Given the description of an element on the screen output the (x, y) to click on. 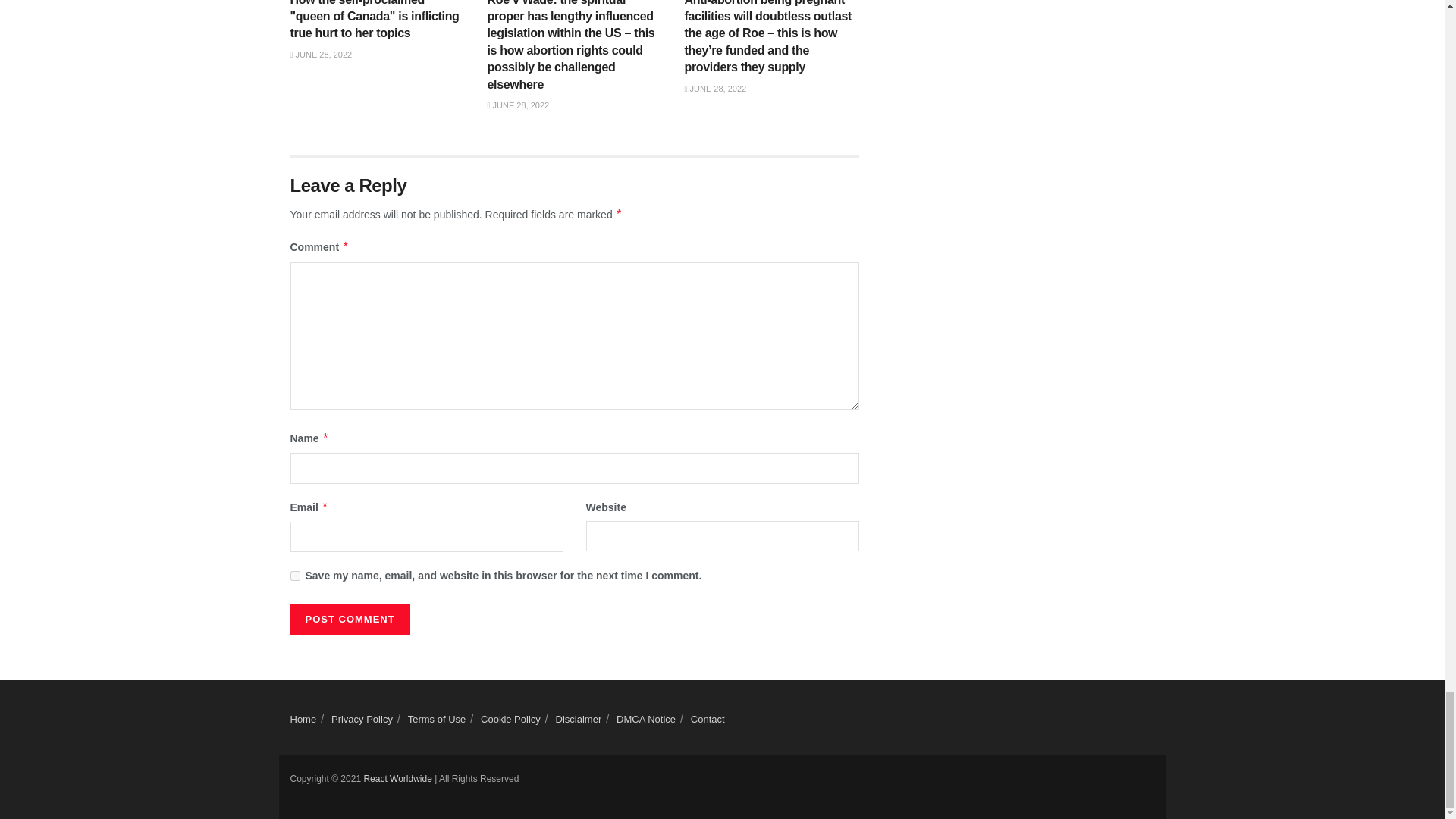
yes (294, 575)
JUNE 28, 2022 (320, 53)
Post Comment (349, 619)
